Given the description of an element on the screen output the (x, y) to click on. 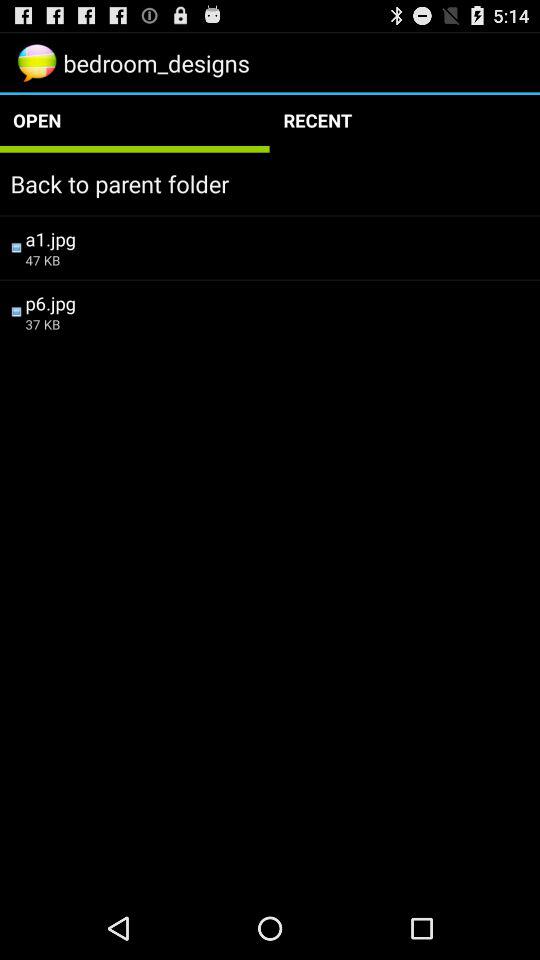
turn off the item below a1.jpg icon (277, 259)
